Given the description of an element on the screen output the (x, y) to click on. 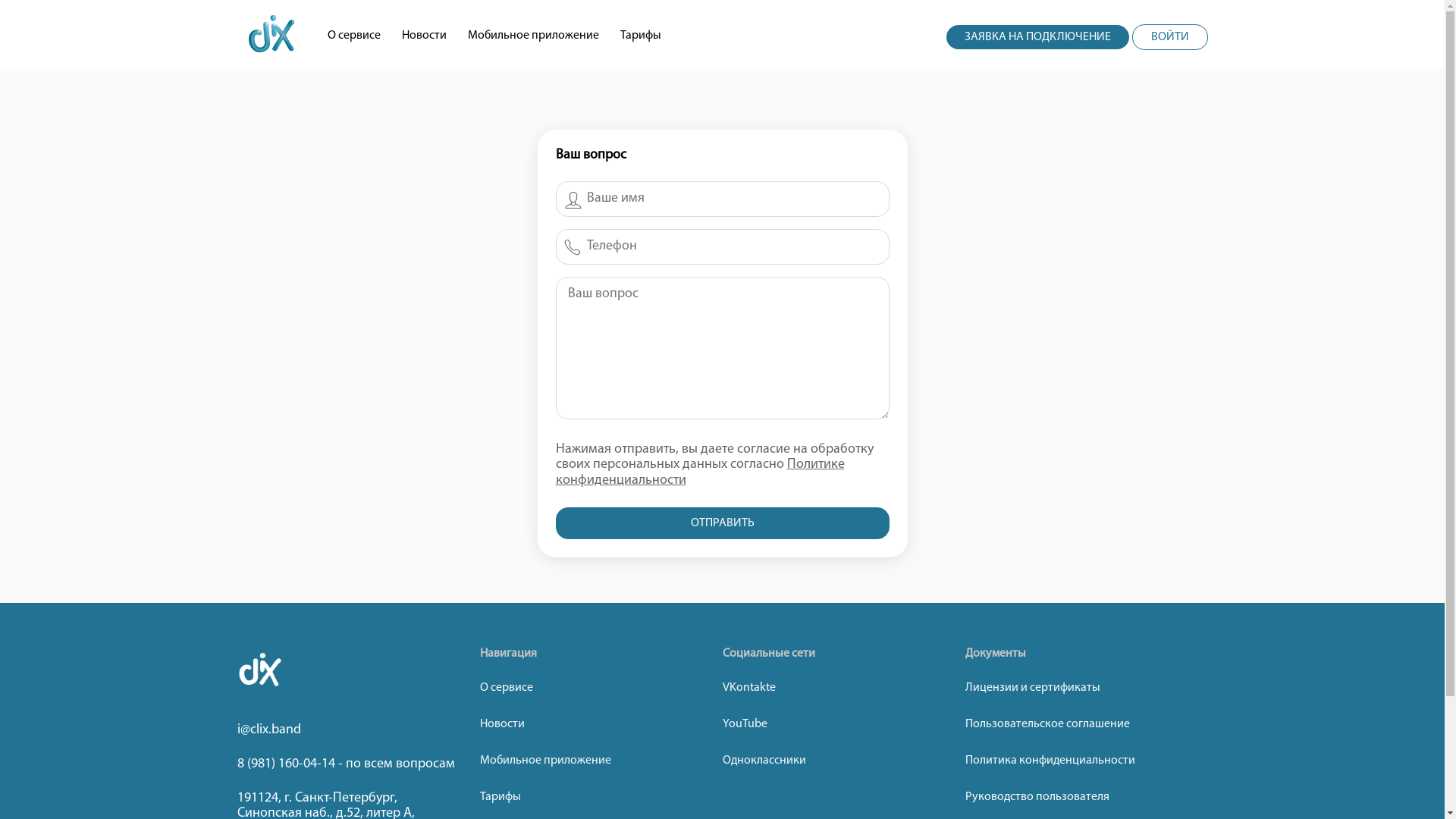
YouTube Element type: text (833, 724)
i@clix.band Element type: text (357, 730)
VKontakte Element type: text (833, 687)
